Given the description of an element on the screen output the (x, y) to click on. 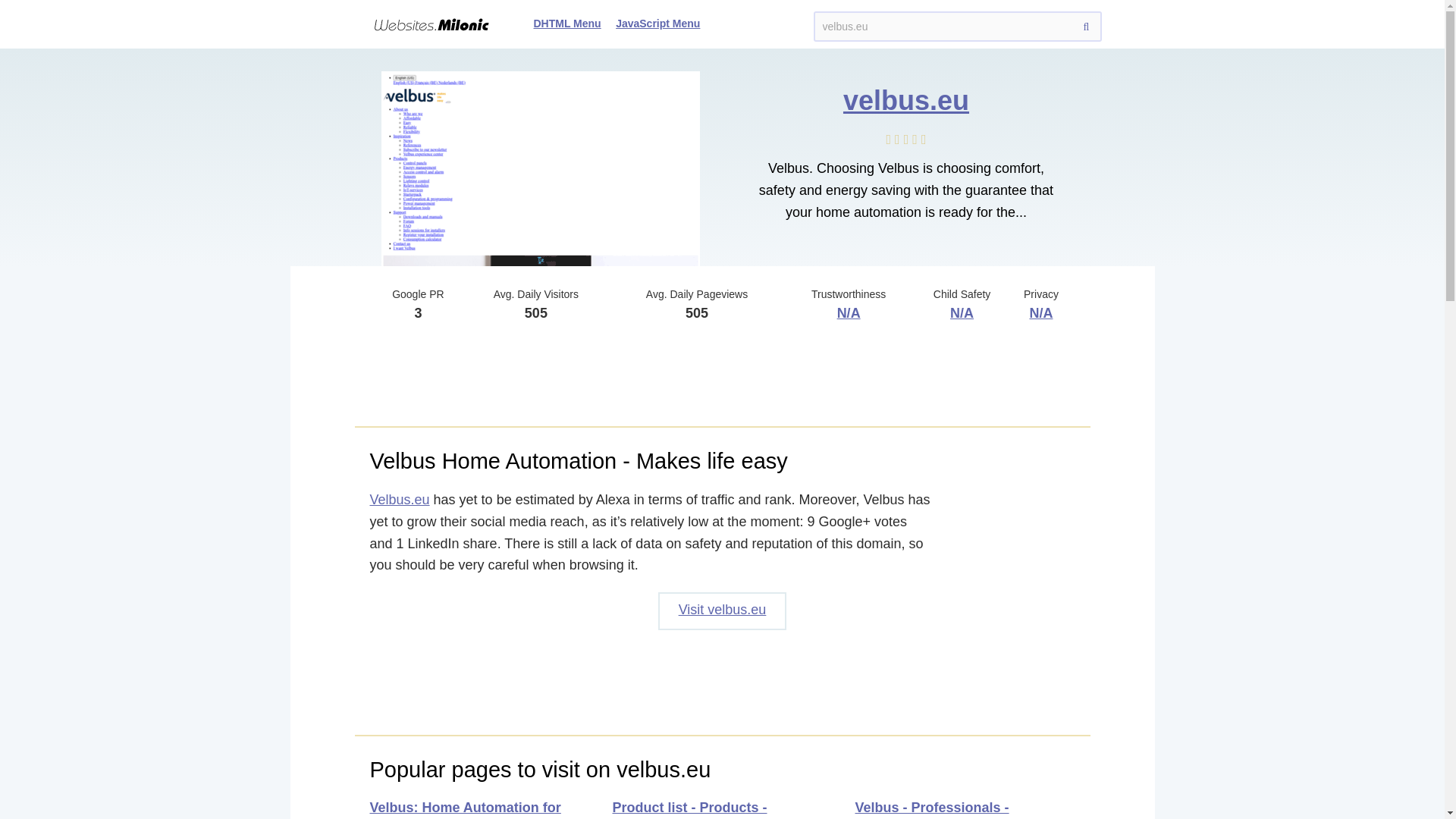
velbus.eu (956, 26)
velbus.eu (906, 100)
Velbus - Professionals - Consumption (932, 809)
Velbus: Home Automation for everyone (464, 809)
Visit velbus.eu (722, 610)
JavaScript Menu (657, 23)
DHTML Menu (567, 23)
Velbus.eu (399, 499)
